Given the description of an element on the screen output the (x, y) to click on. 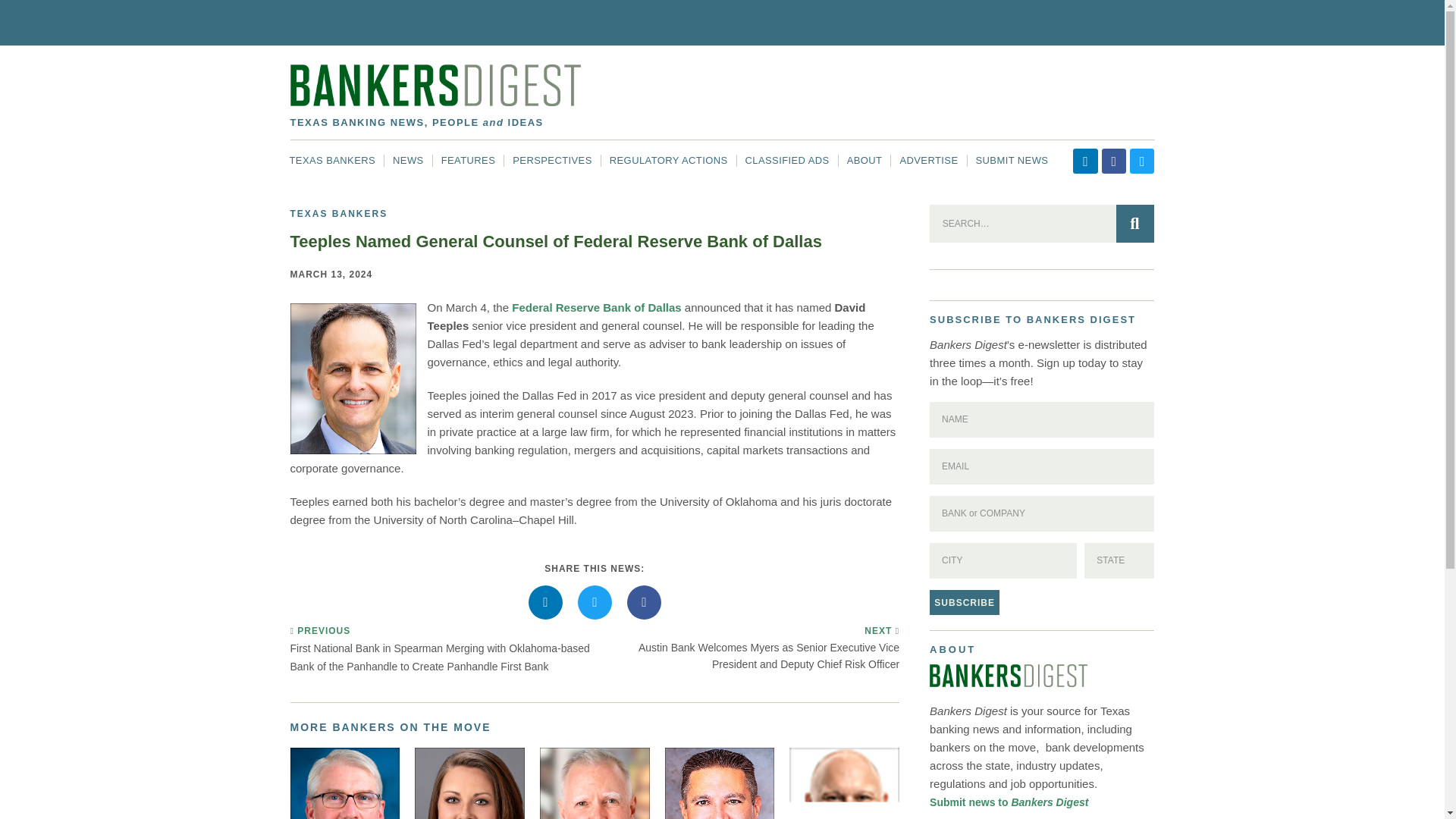
REGULATORY ACTIONS (668, 160)
ADVERTISE (928, 160)
CLASSIFIED ADS (787, 160)
TEXAS BANKERS (332, 160)
ABOUT (864, 160)
PERSPECTIVES (551, 160)
FEATURES (467, 160)
NEWS (408, 160)
SUBMIT NEWS (1012, 160)
7:10 PM (330, 274)
